Given the description of an element on the screen output the (x, y) to click on. 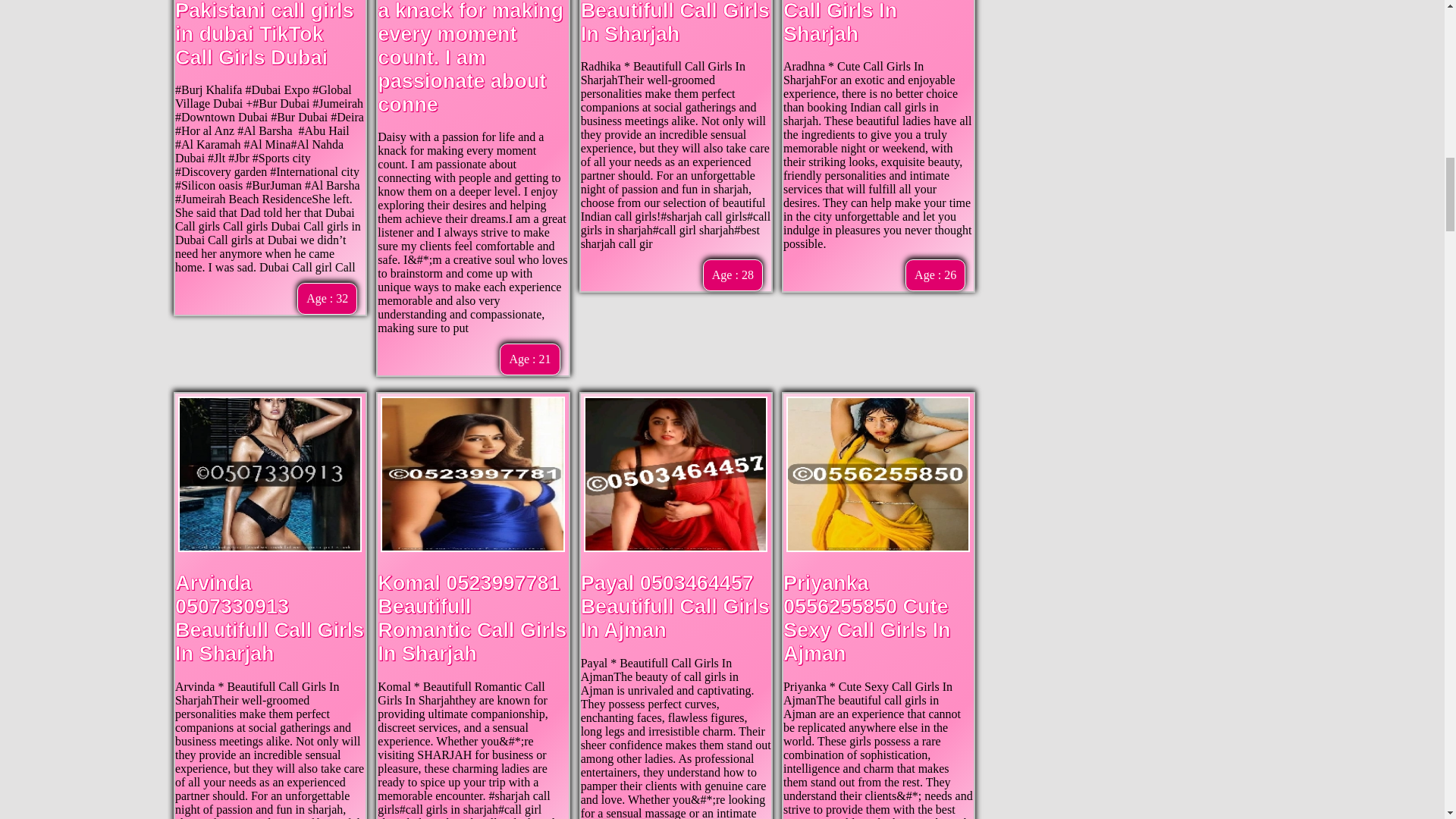
Priyanka 0556255850 Cute Sexy Call Girls In Ajman (866, 618)
Payal 0503464457 Beautifull Call Girls In Ajman (675, 606)
Radhika 0524607760 Beautifull Call Girls In Sharjah (675, 22)
Komal 0523997781 Beautifull Romantic Call Girls In Sharjah (471, 618)
Aradhna 0506129535 Cute Call Girls In Sharjah (866, 22)
Arvinda 0507330913 Beautifull Call Girls In Sharjah (269, 618)
